Given the description of an element on the screen output the (x, y) to click on. 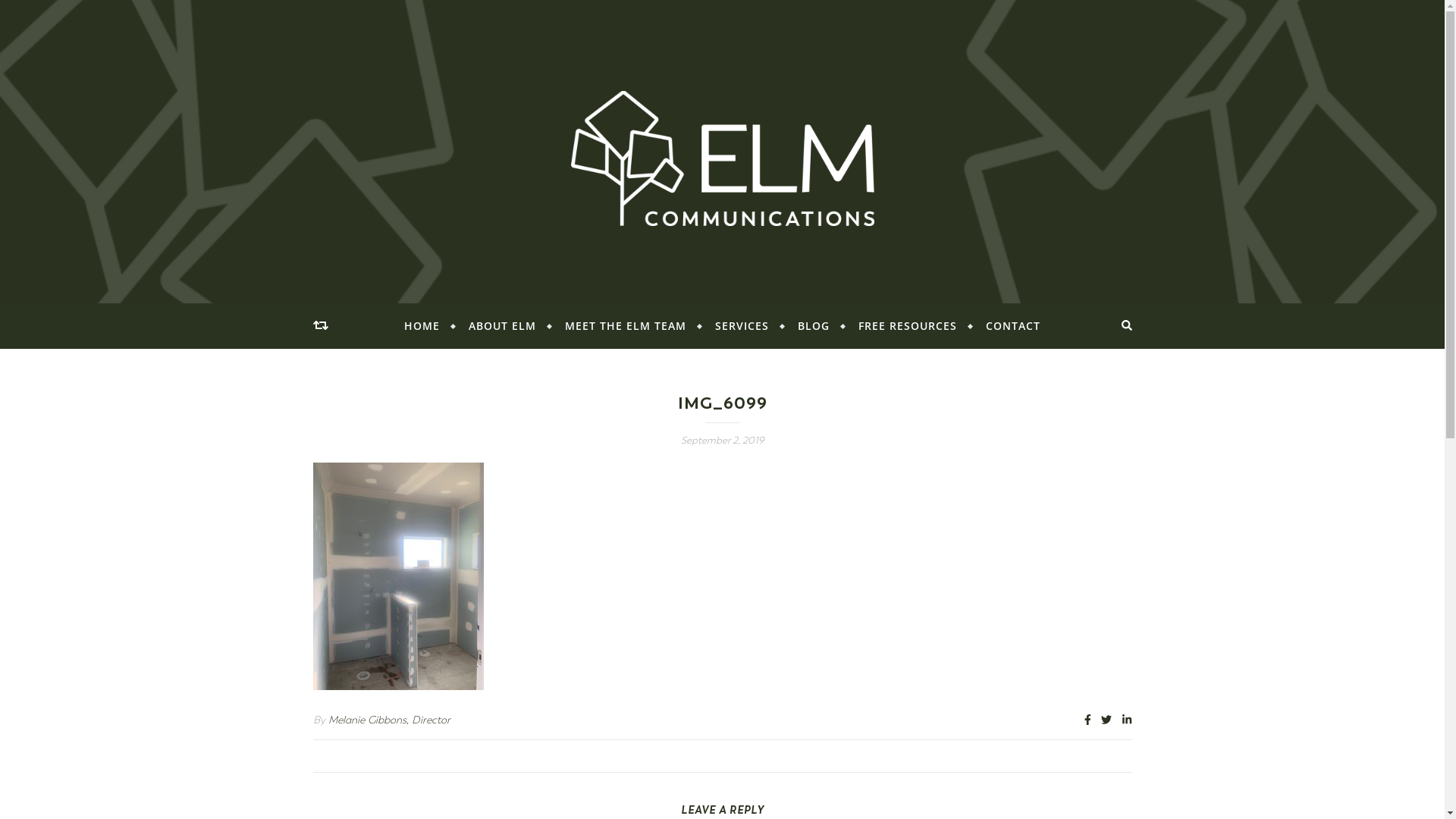
MEET THE ELM TEAM Element type: text (625, 325)
CONTACT Element type: text (1006, 325)
Melanie Gibbons, Director Element type: text (388, 719)
HOME Element type: text (428, 325)
FREE RESOURCES Element type: text (907, 325)
BLOG Element type: text (813, 325)
ABOUT ELM Element type: text (502, 325)
SERVICES Element type: text (741, 325)
